Given the description of an element on the screen output the (x, y) to click on. 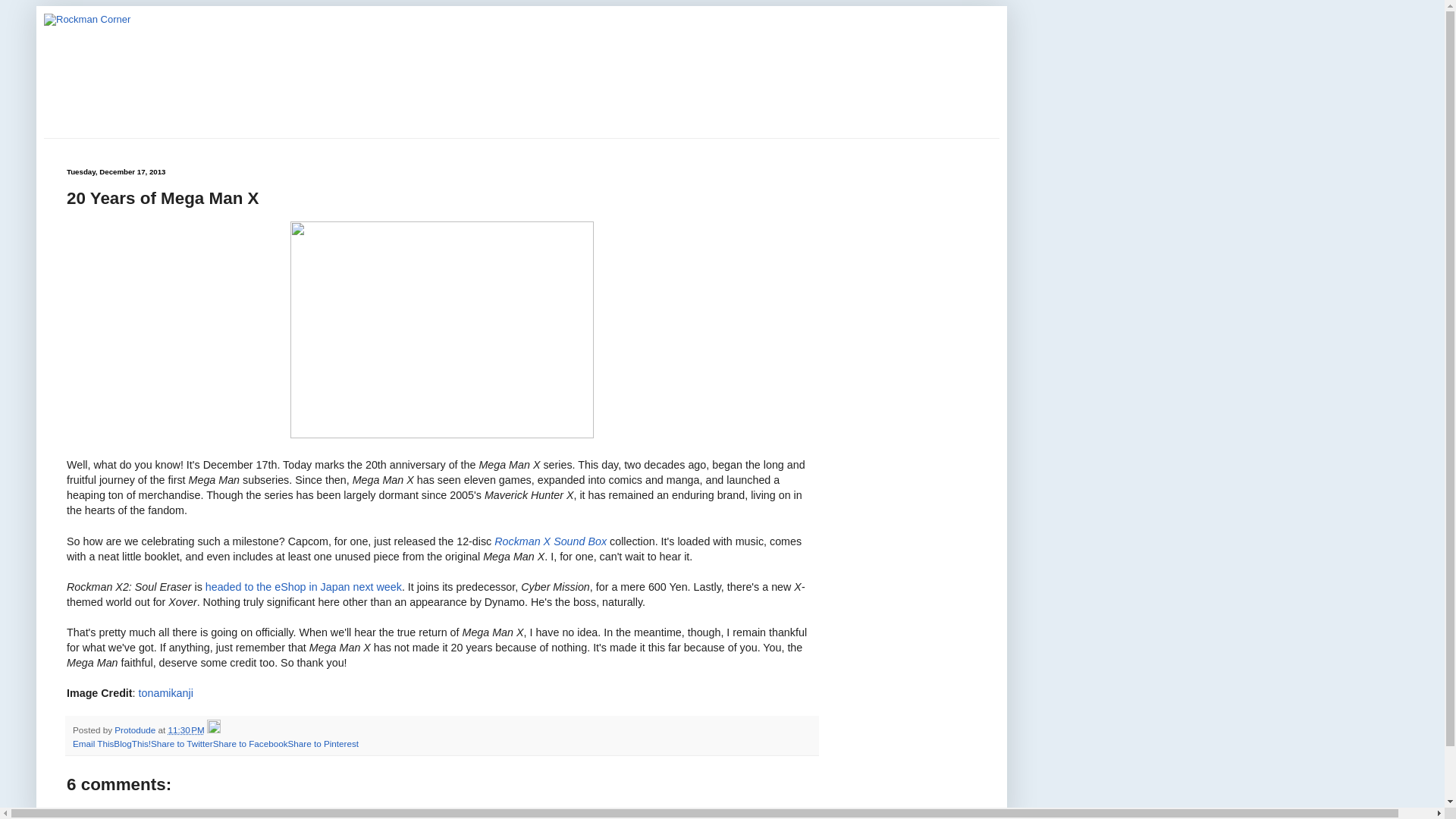
headed to the eShop in Japan next week (303, 586)
Share to Pinterest (322, 743)
author profile (136, 729)
Edit Post (213, 729)
Share to Facebook (250, 743)
Share to Twitter (181, 743)
Email This (92, 743)
Email This (92, 743)
permanent link (185, 729)
Share to Pinterest (322, 743)
Rockman X Sound Box (549, 541)
Protodude (136, 729)
Share to Facebook (250, 743)
Share to Twitter (181, 743)
